Given the description of an element on the screen output the (x, y) to click on. 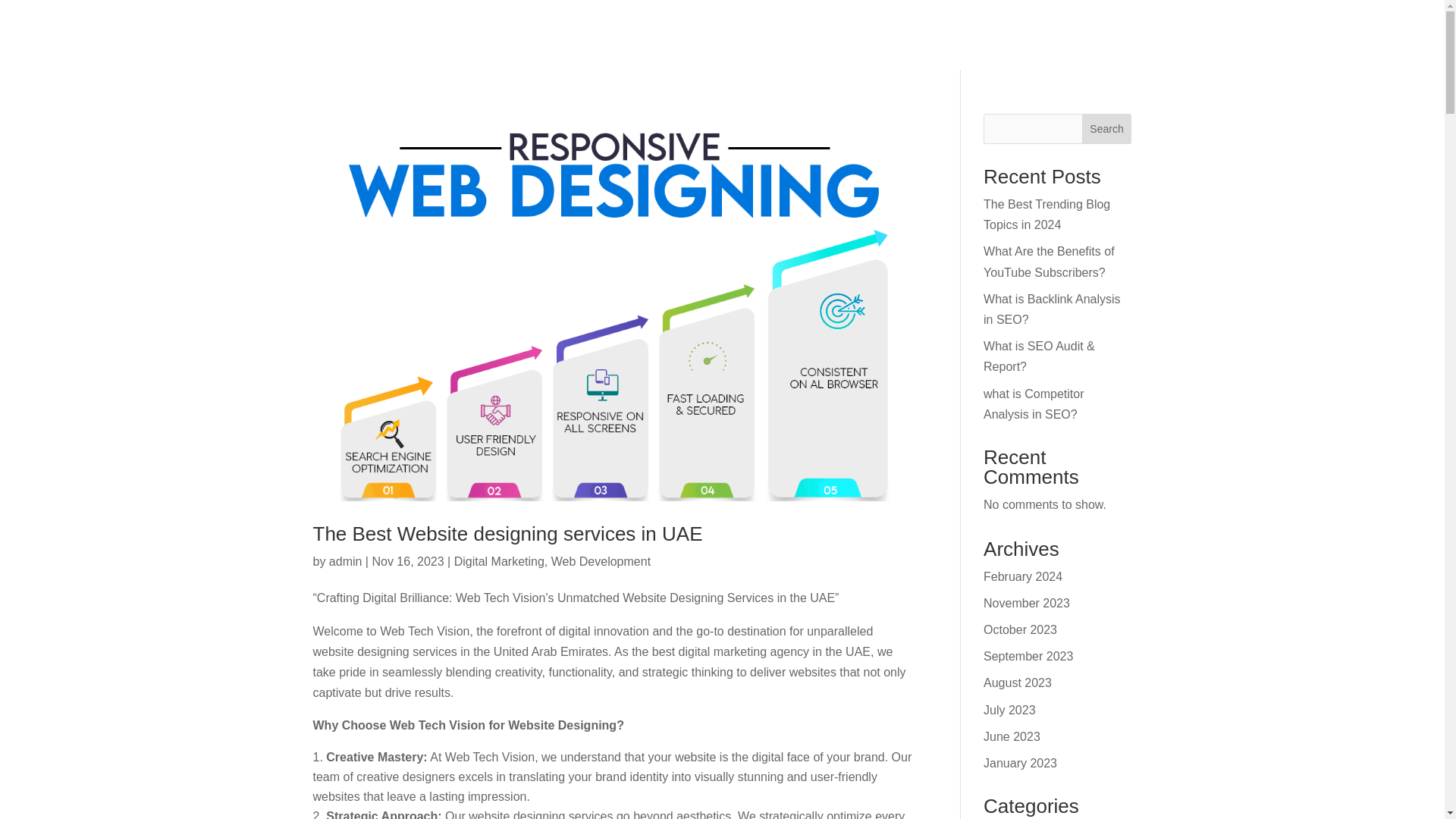
The Best Website designing services in UAE (507, 533)
Web Development (600, 561)
Posts by admin (345, 561)
Digital Marketing (499, 561)
admin (345, 561)
